Given the description of an element on the screen output the (x, y) to click on. 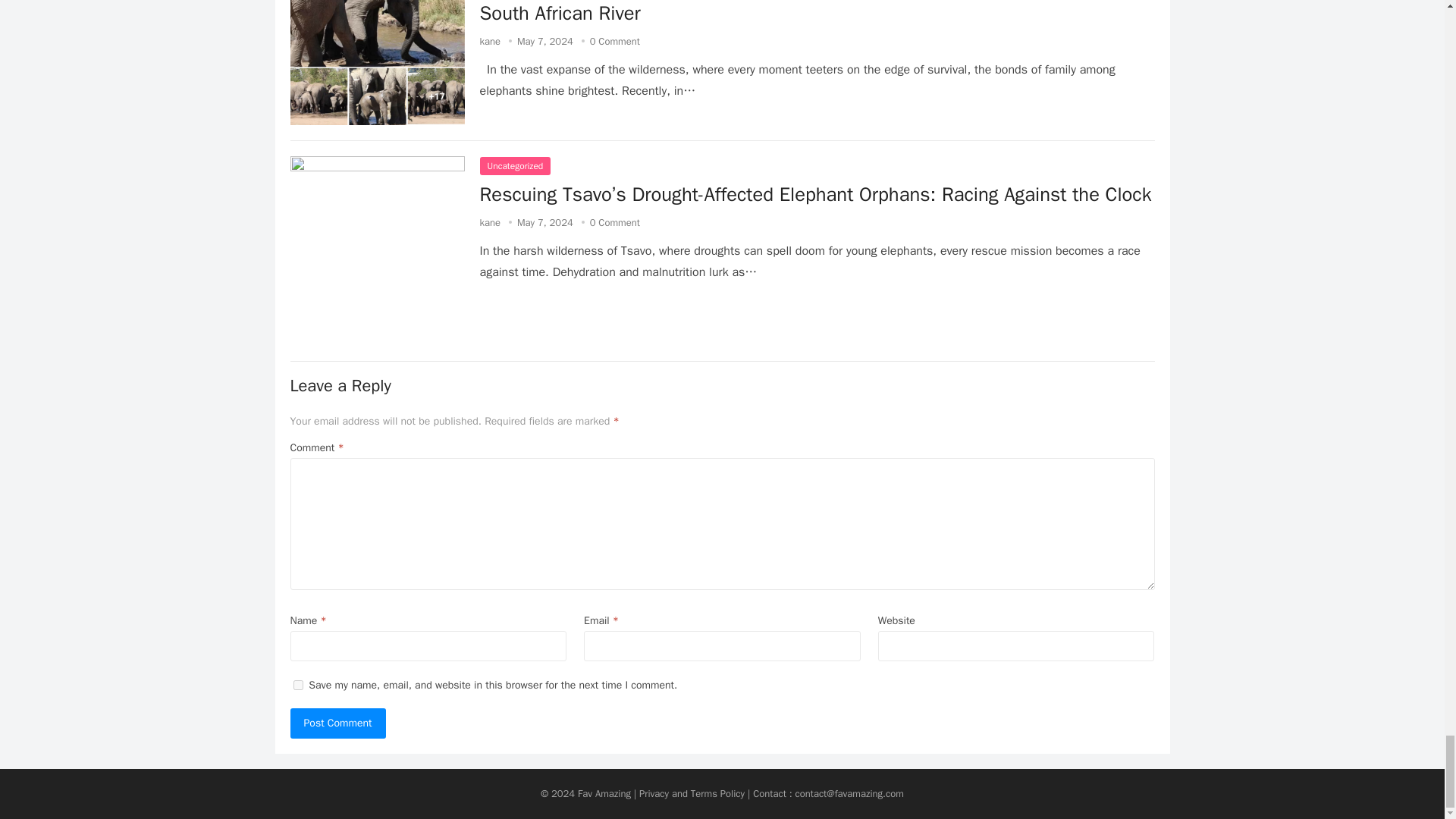
Posts by kane (489, 222)
Posts by kane (489, 41)
Post Comment (337, 723)
yes (297, 685)
